Given the description of an element on the screen output the (x, y) to click on. 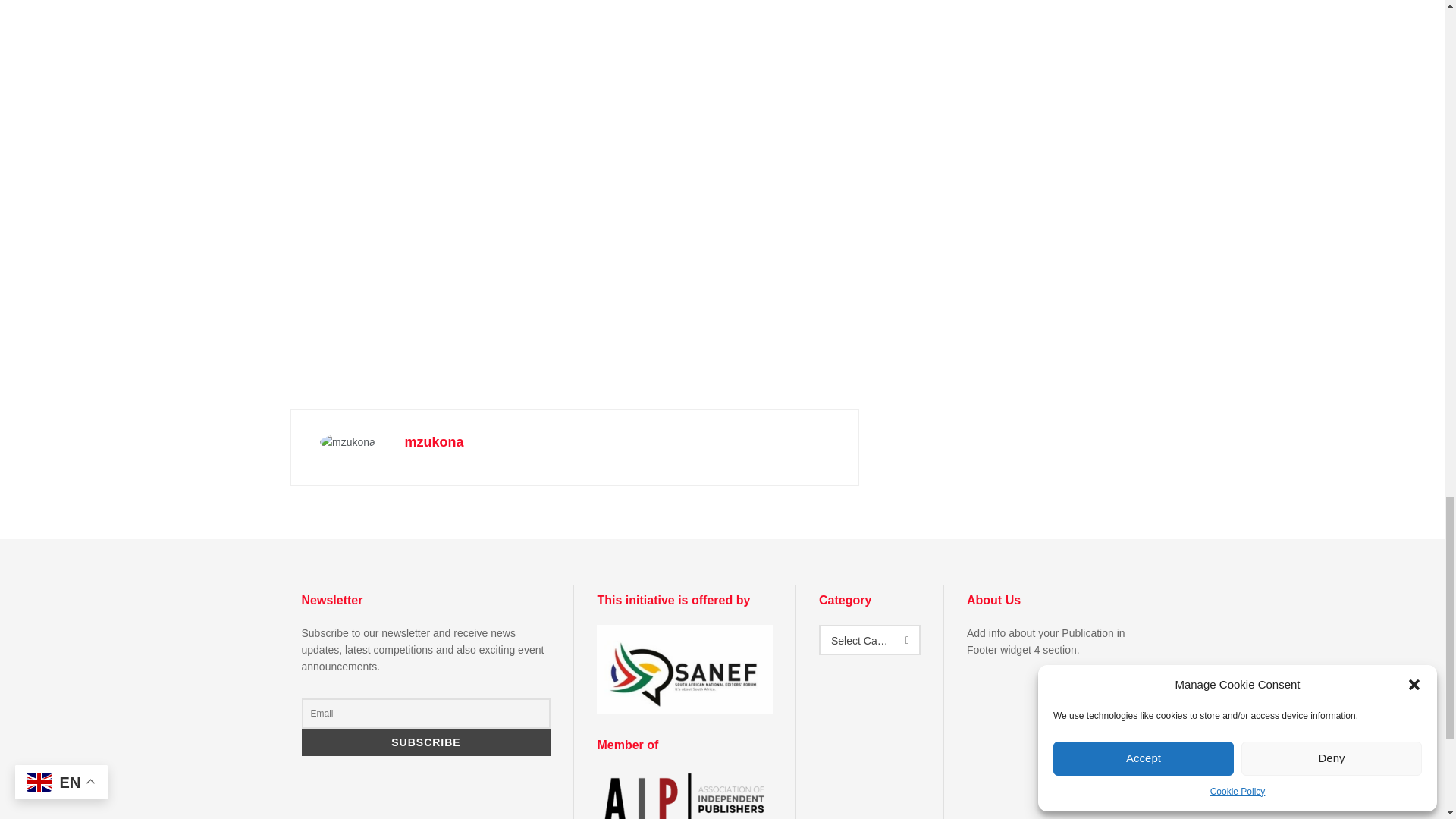
Subscribe (426, 741)
